Given the description of an element on the screen output the (x, y) to click on. 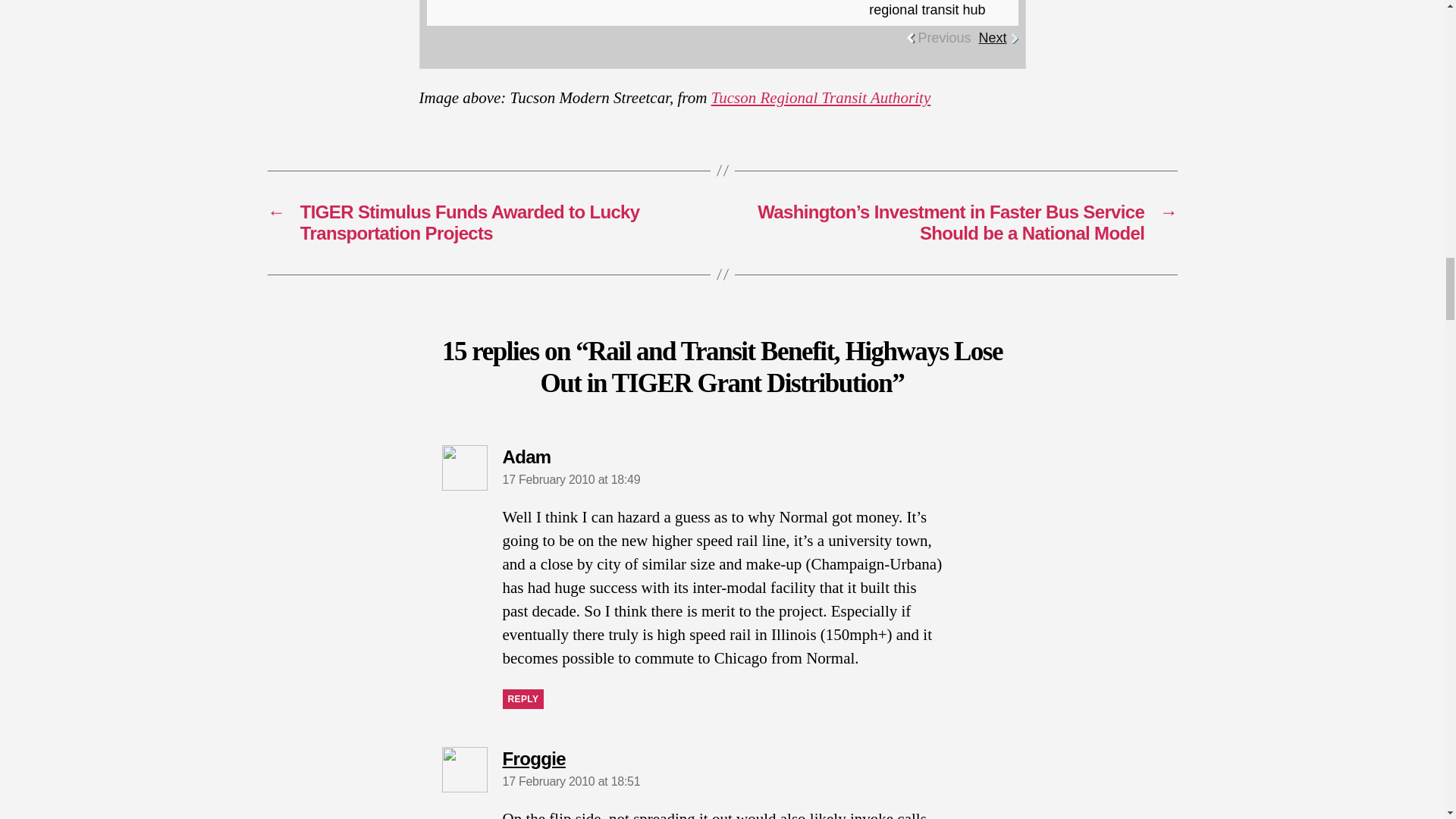
17 February 2010 at 18:51 (571, 780)
REPLY (522, 699)
17 February 2010 at 18:49 (571, 479)
